Given the description of an element on the screen output the (x, y) to click on. 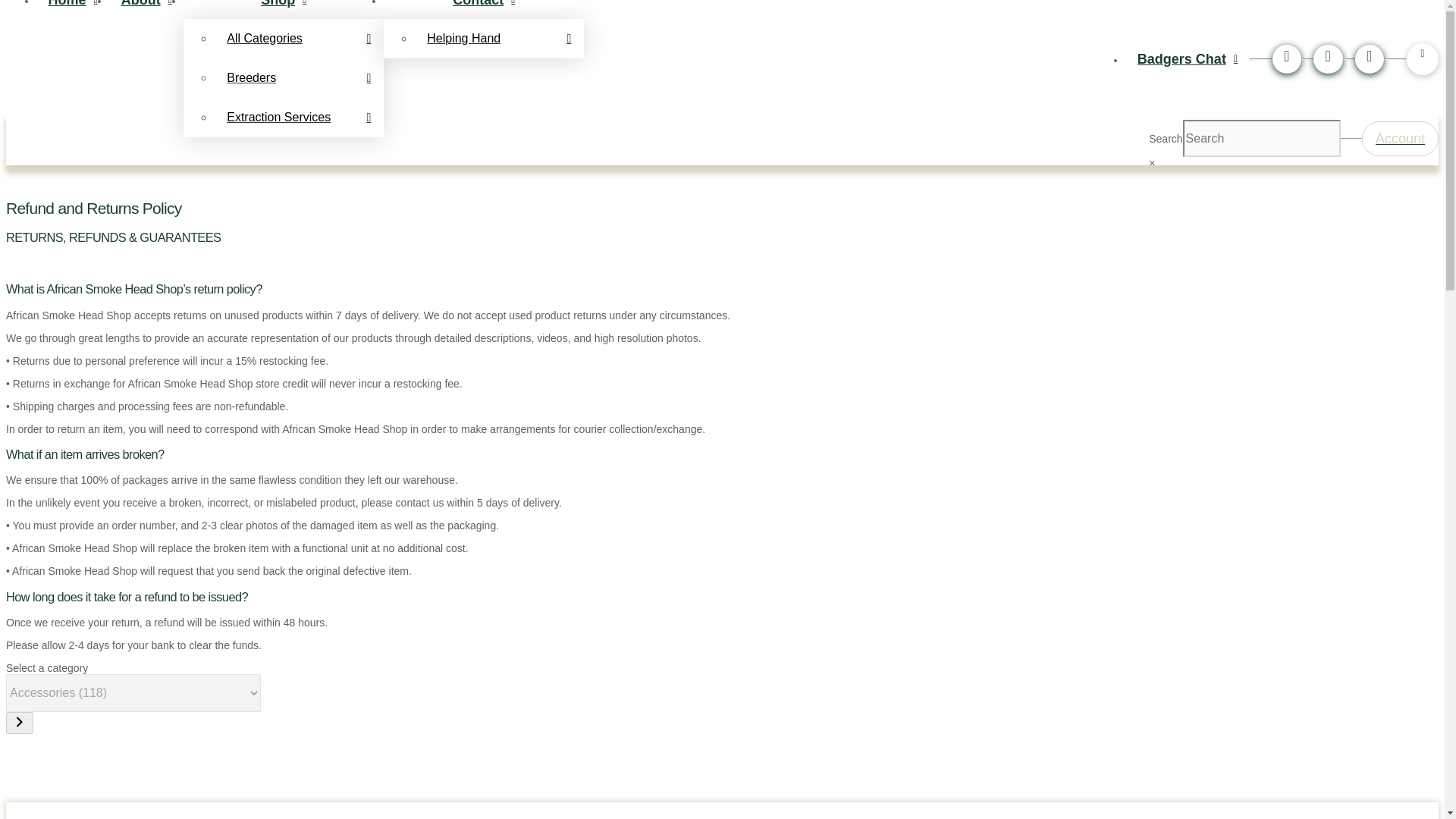
Home (72, 9)
Badgers Chat (1187, 58)
About (146, 9)
All Categories (299, 37)
Breeders (299, 77)
Extraction Services (299, 116)
Shop (283, 9)
Contact (483, 9)
Helping Hand (498, 37)
